Given the description of an element on the screen output the (x, y) to click on. 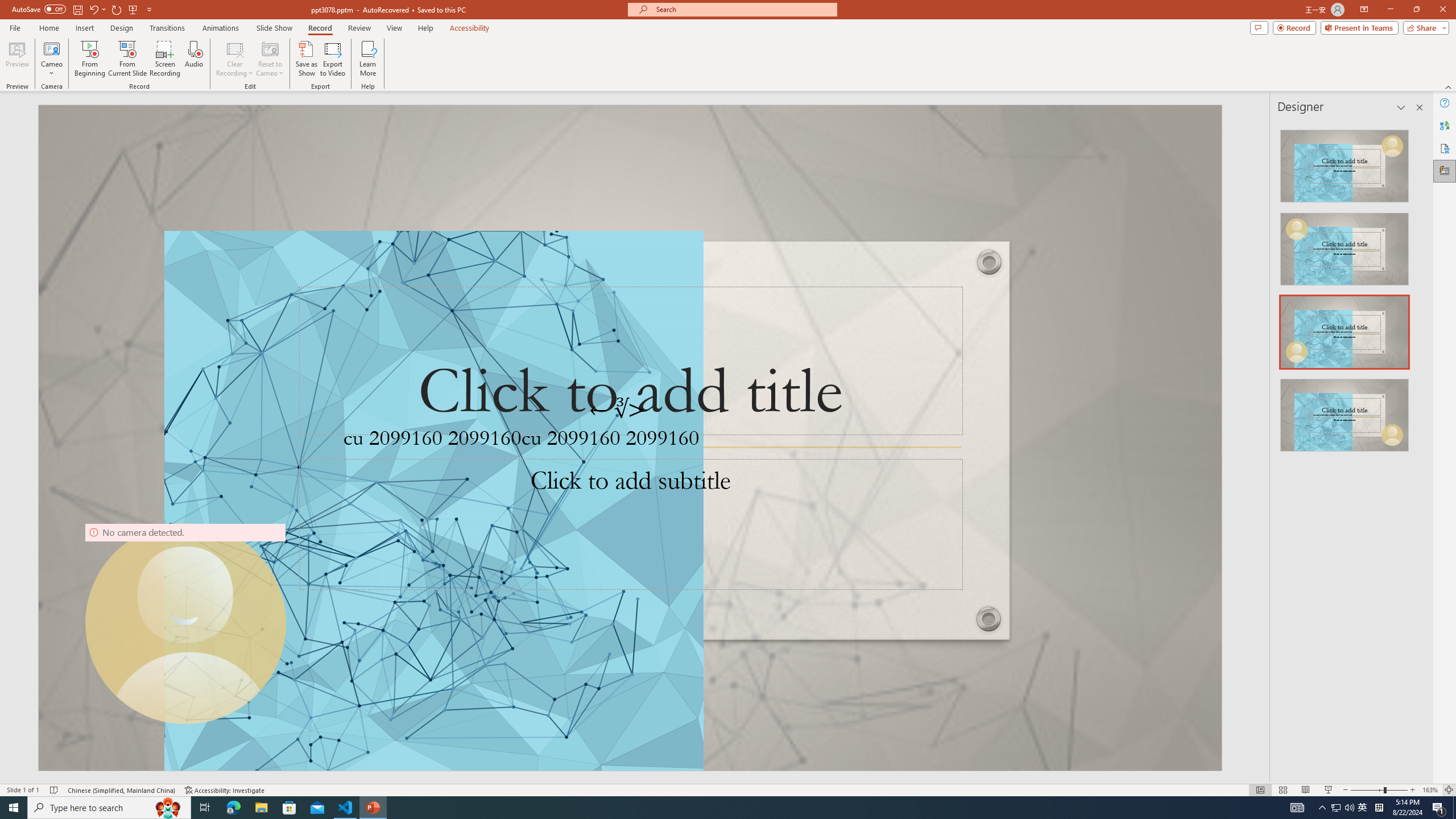
Designer (1444, 170)
Screen Recording (165, 58)
Preview (17, 58)
From Beginning... (89, 58)
Camera 9, No camera detected. (185, 623)
